Given the description of an element on the screen output the (x, y) to click on. 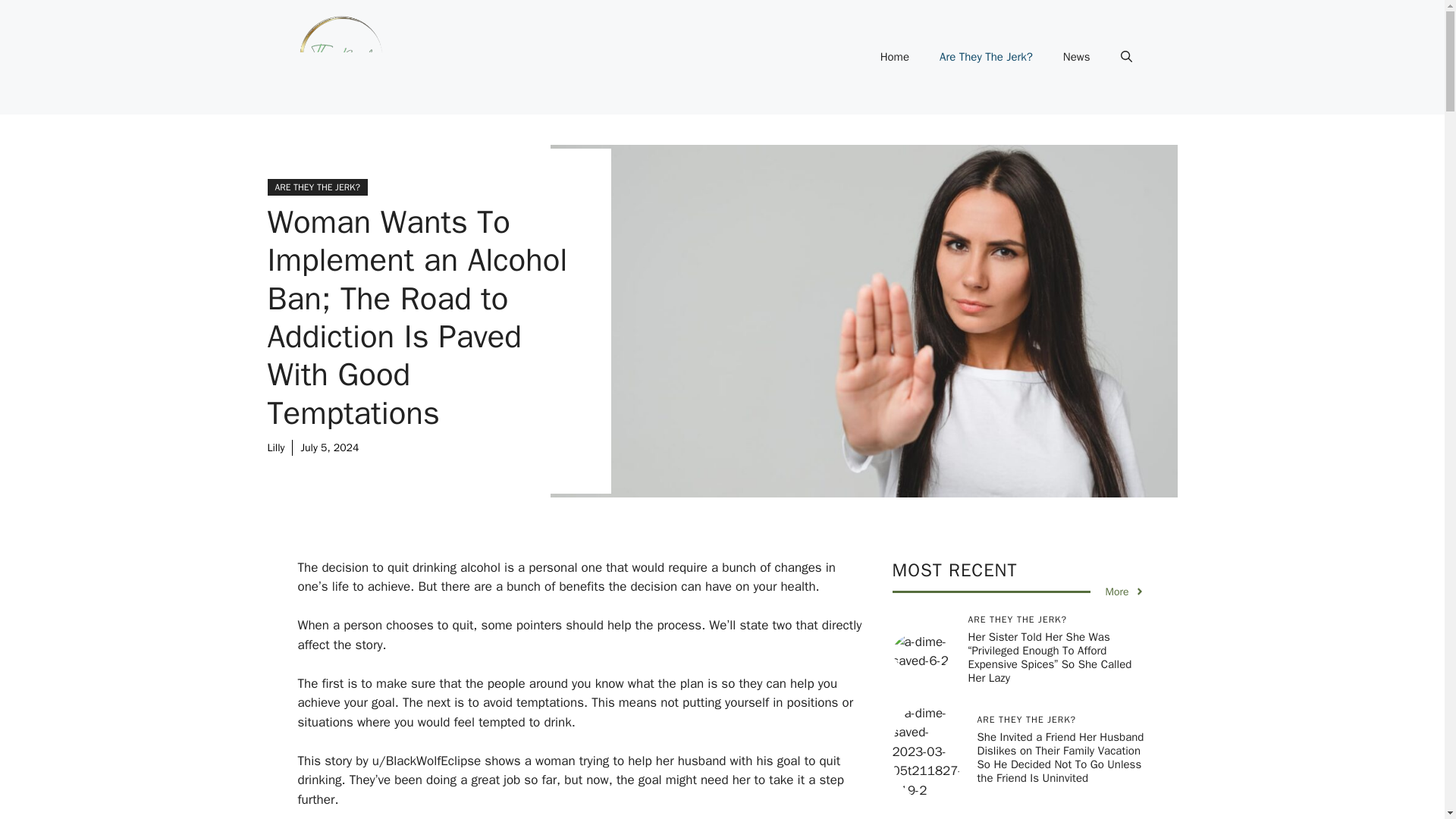
Lilly (274, 447)
ARE THEY THE JERK? (316, 187)
More (1124, 591)
Are They The Jerk? (986, 56)
Home (894, 56)
News (1076, 56)
